Given the description of an element on the screen output the (x, y) to click on. 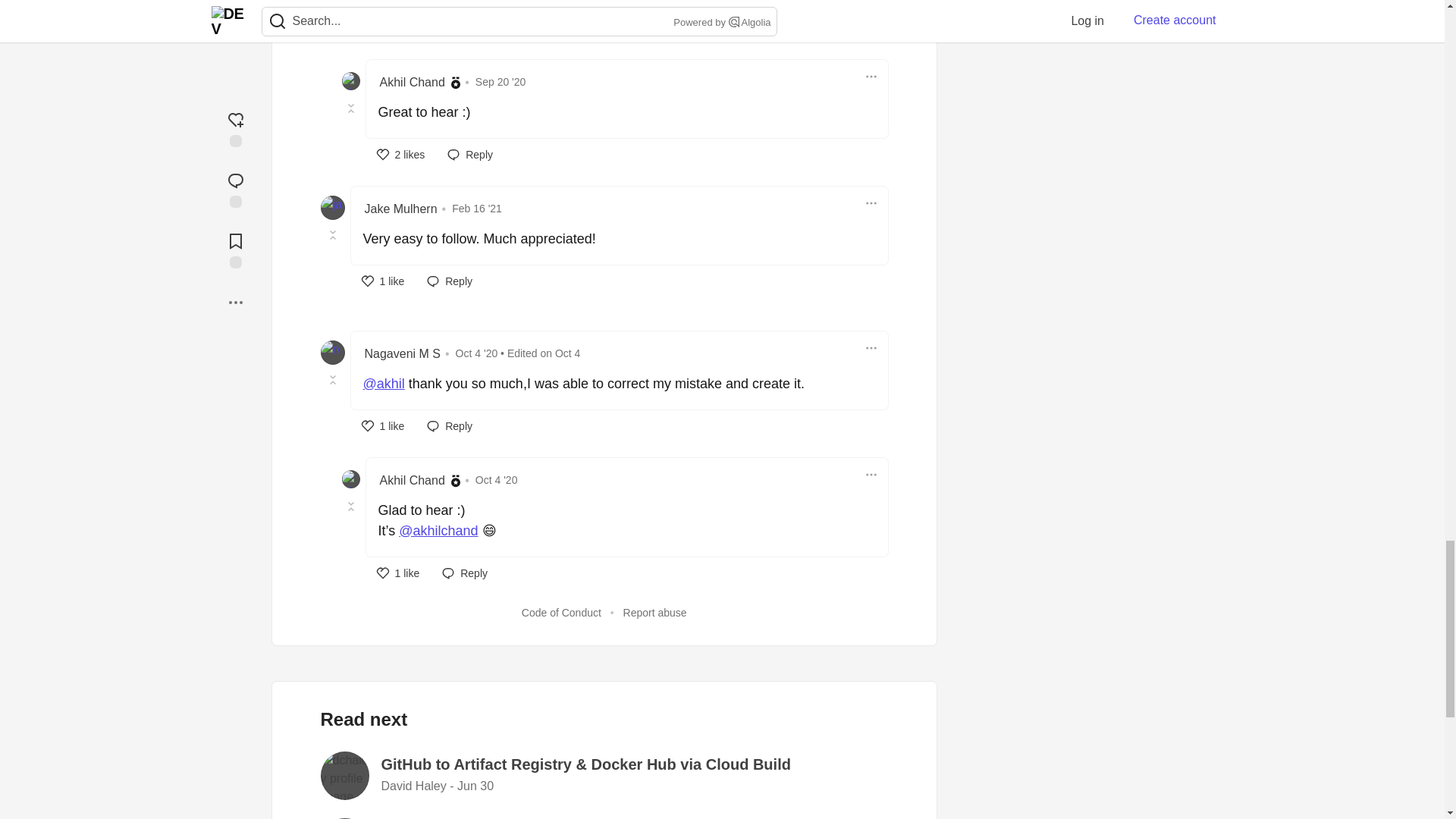
Sunday, October 4, 2020 at 8:18:42 PM (477, 353)
Tuesday, February 16, 2021 at 10:46:49 AM (476, 208)
Sunday, October 4, 2020 at 8:19:05 PM (566, 353)
Sunday, September 20, 2020 at 10:23:25 PM (500, 81)
